Given the description of an element on the screen output the (x, y) to click on. 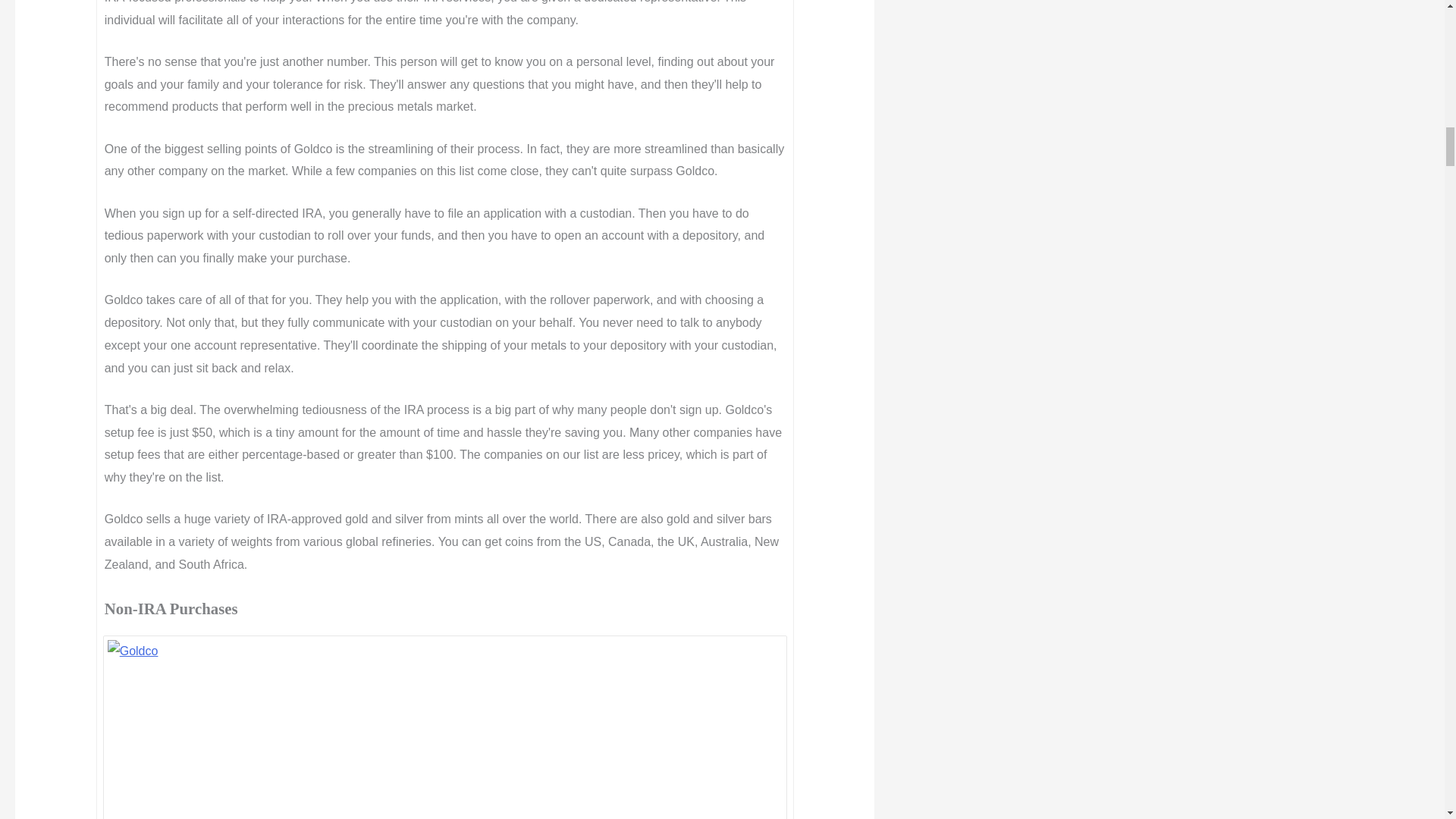
Goldco (445, 729)
